Given the description of an element on the screen output the (x, y) to click on. 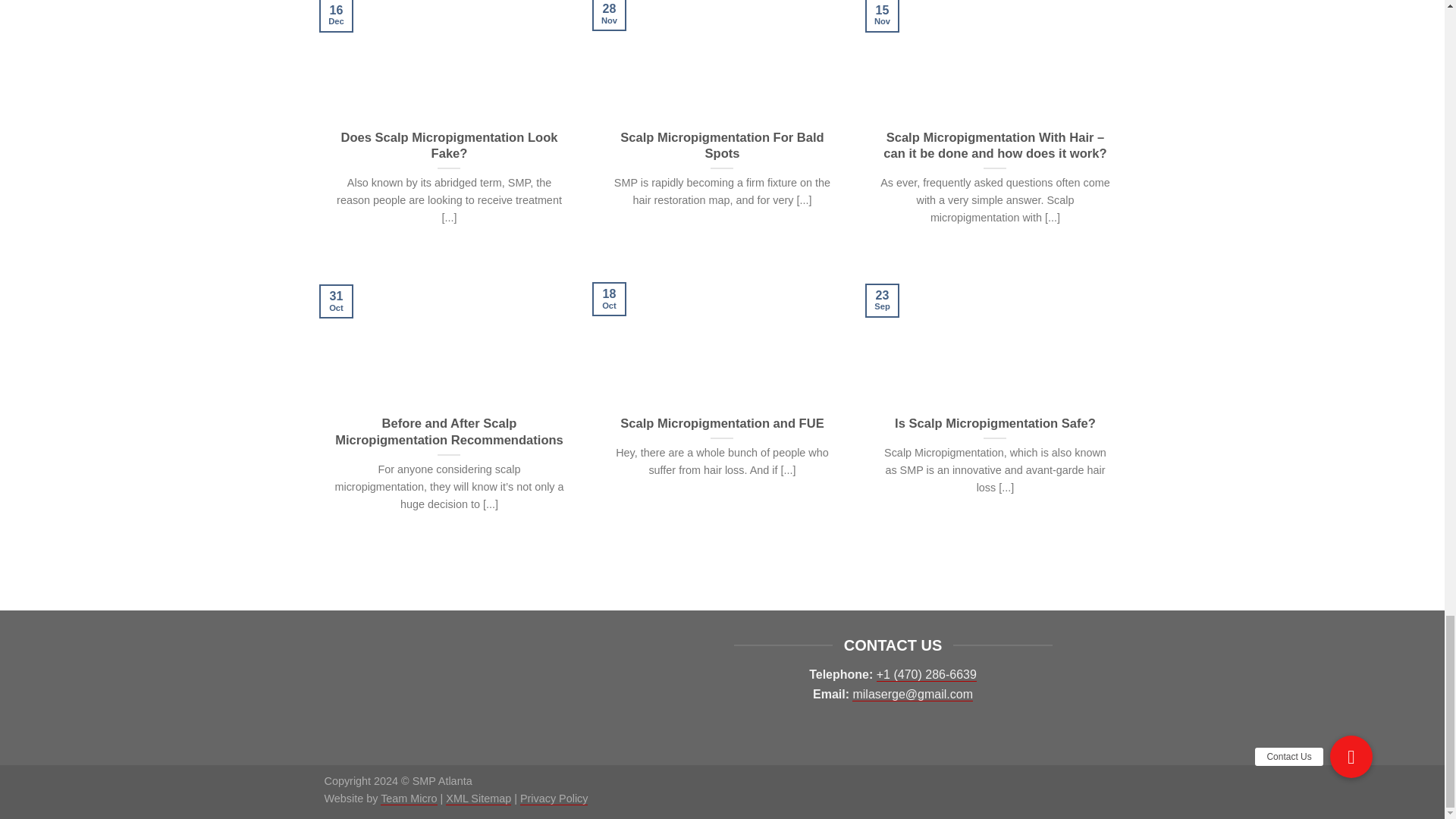
Team Micro (408, 798)
Privacy Policy (553, 798)
XML Sitemap (478, 798)
Scalp Micropigmentation Atlanta (721, 562)
